Given the description of an element on the screen output the (x, y) to click on. 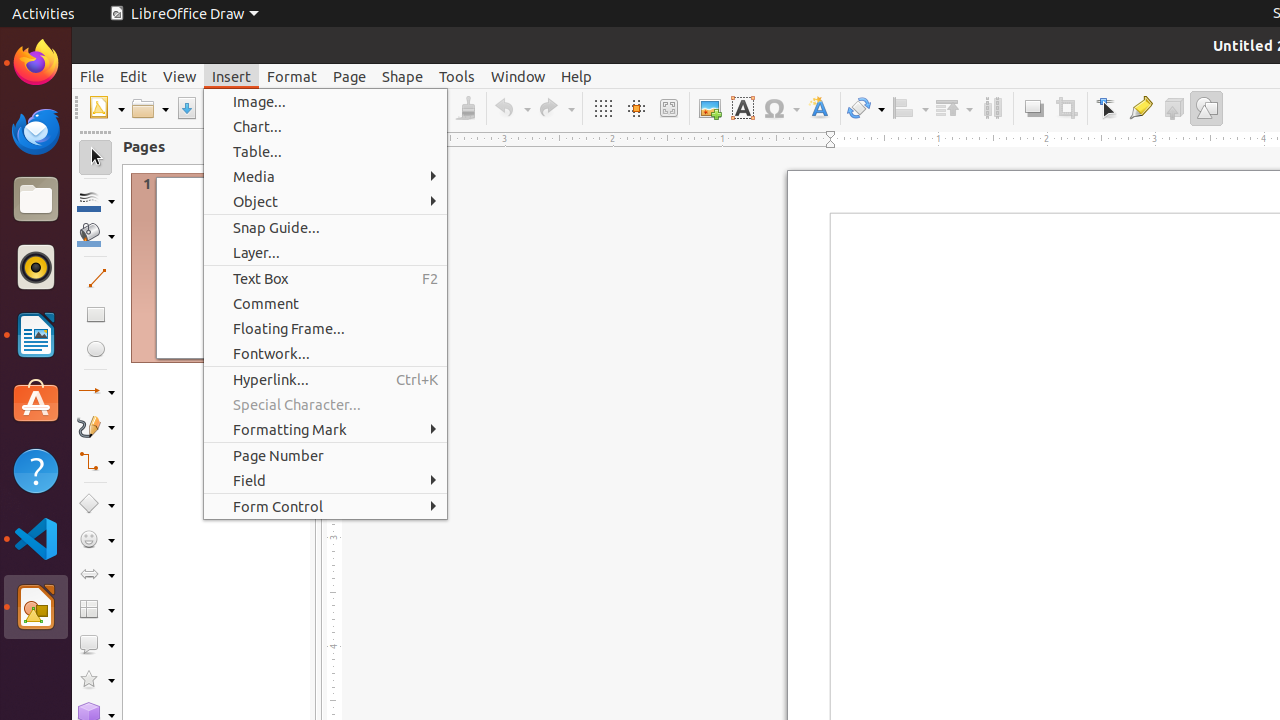
Glue Points Element type: push-button (1140, 108)
Snap Guide... Element type: menu-item (325, 227)
Help Element type: menu (576, 76)
Grid Element type: toggle-button (602, 108)
Page Element type: menu (349, 76)
